Given the description of an element on the screen output the (x, y) to click on. 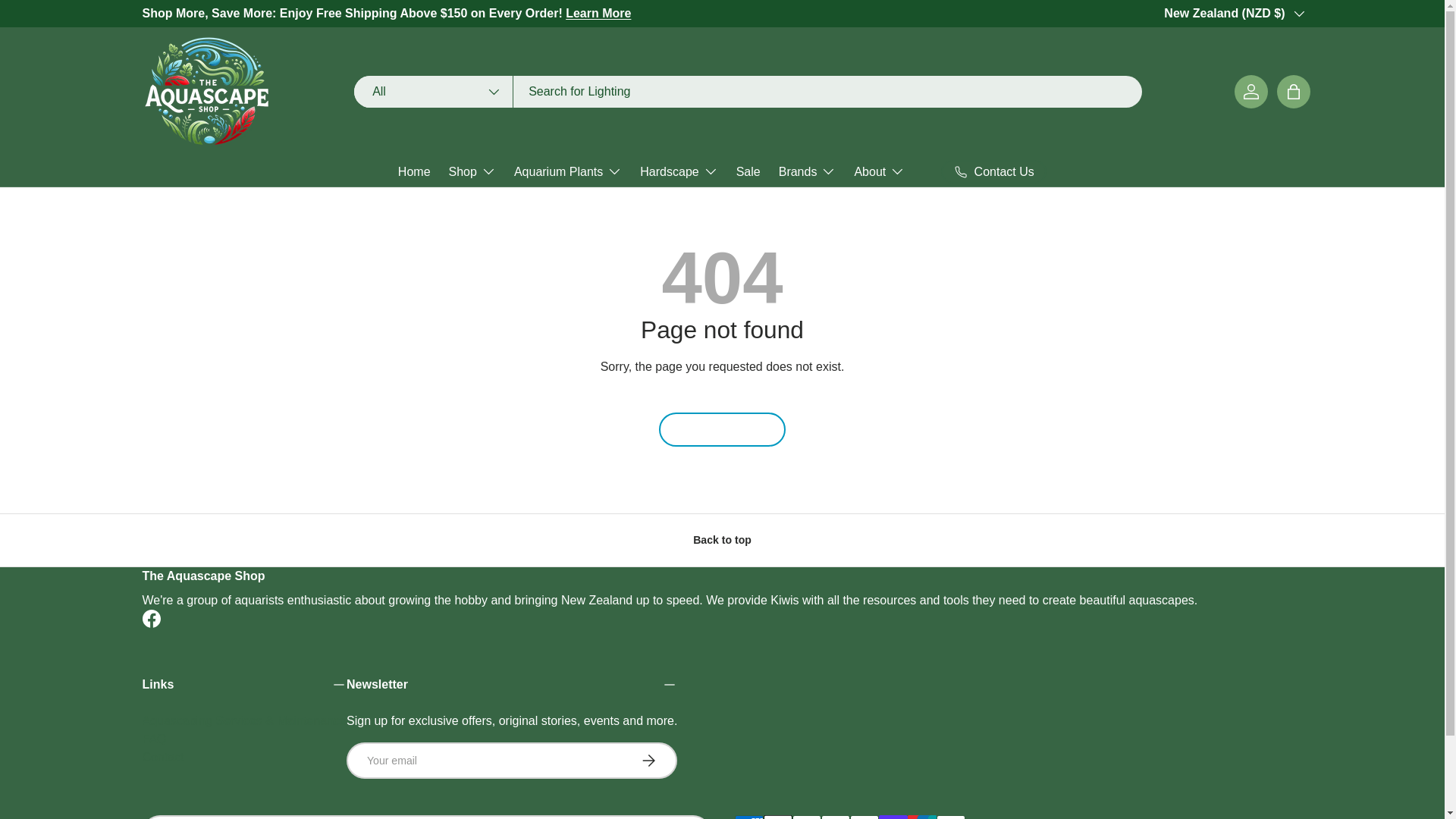
Mastercard (834, 816)
PayPal (862, 816)
All (433, 91)
Learn More (598, 12)
Delivery (598, 12)
Apple Pay (777, 816)
Bag (1293, 91)
Shop Pay (892, 816)
American Express (747, 816)
Shop (472, 171)
